Given the description of an element on the screen output the (x, y) to click on. 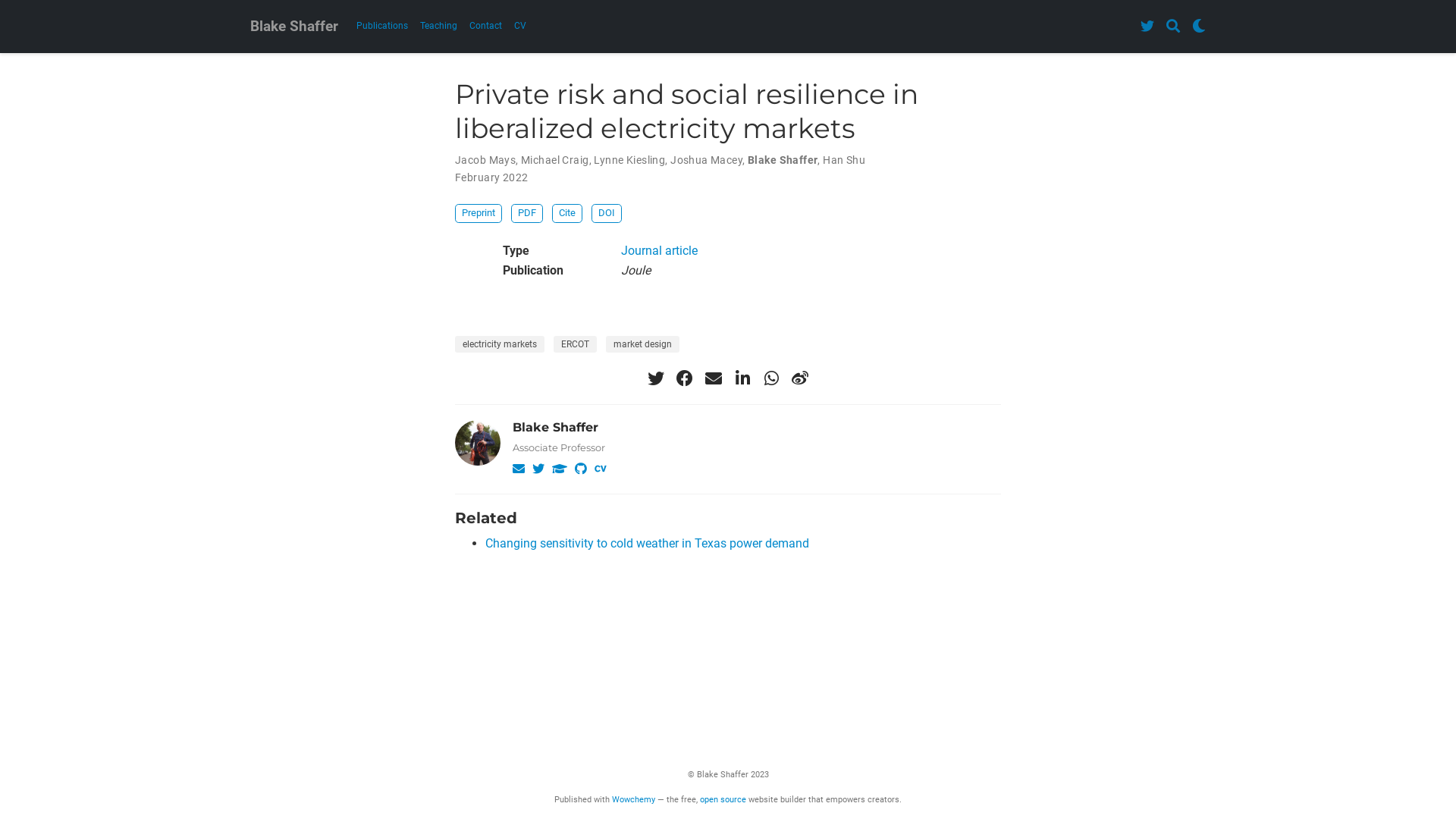
Joshua Macey Element type: text (706, 159)
Preprint Element type: text (478, 212)
Changing sensitivity to cold weather in Texas power demand Element type: text (647, 543)
Blake Shaffer Element type: text (782, 159)
Journal article Element type: text (659, 250)
Teaching Element type: text (438, 25)
DOI Element type: text (606, 212)
Blake Shaffer Element type: text (555, 427)
open source Element type: text (722, 799)
CV Element type: text (520, 25)
Han Shu Element type: text (843, 159)
electricity markets Element type: text (499, 343)
Cite Element type: text (567, 212)
Jacob Mays Element type: text (485, 159)
PDF Element type: text (526, 212)
Michael Craig Element type: text (554, 159)
Publications Element type: text (382, 25)
Lynne Kiesling Element type: text (629, 159)
market design Element type: text (642, 343)
Blake Shaffer Element type: text (294, 26)
ERCOT Element type: text (574, 343)
Contact Element type: text (485, 25)
Wowchemy Element type: text (633, 799)
